Given the description of an element on the screen output the (x, y) to click on. 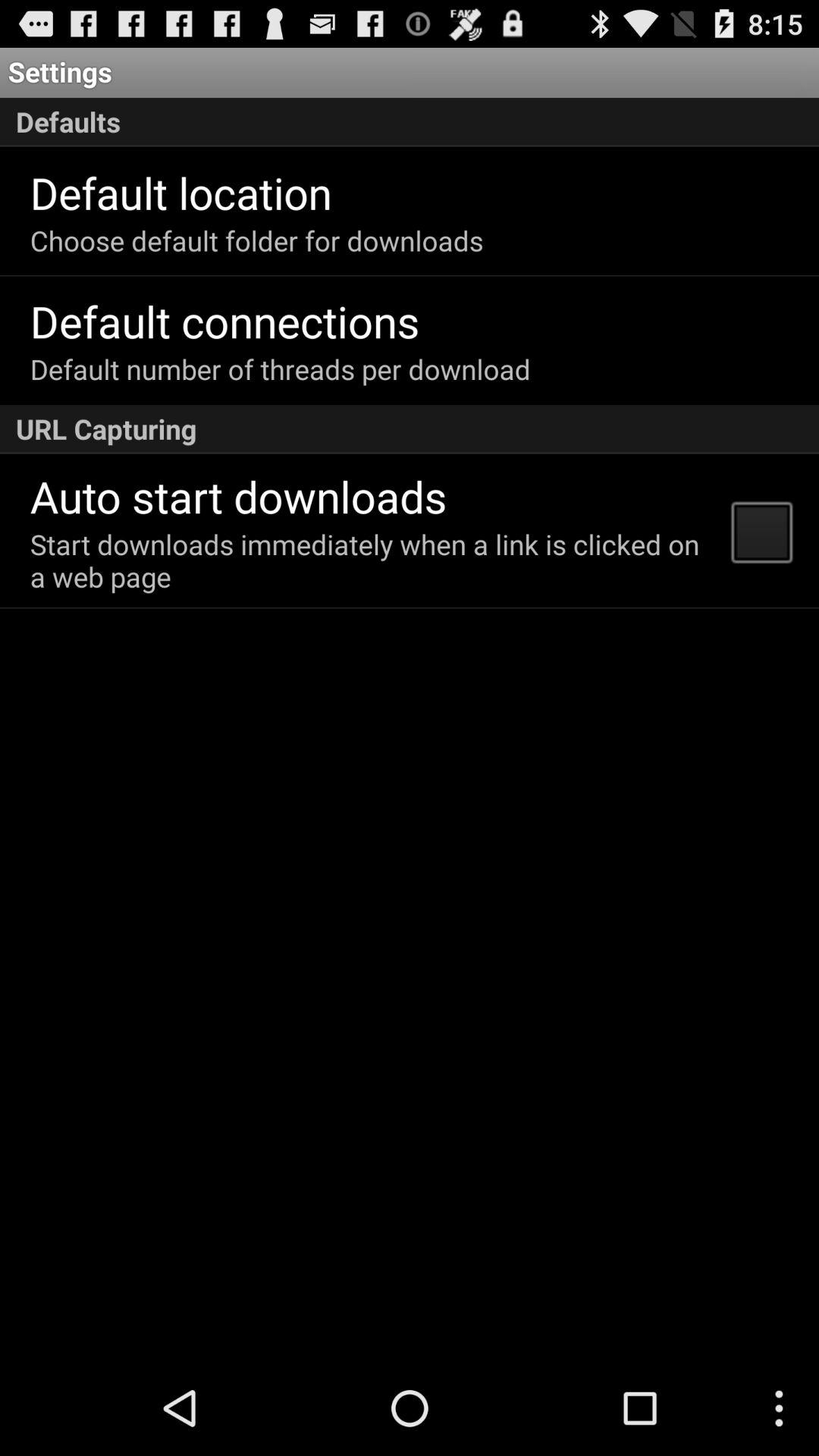
flip to the default location (181, 192)
